Given the description of an element on the screen output the (x, y) to click on. 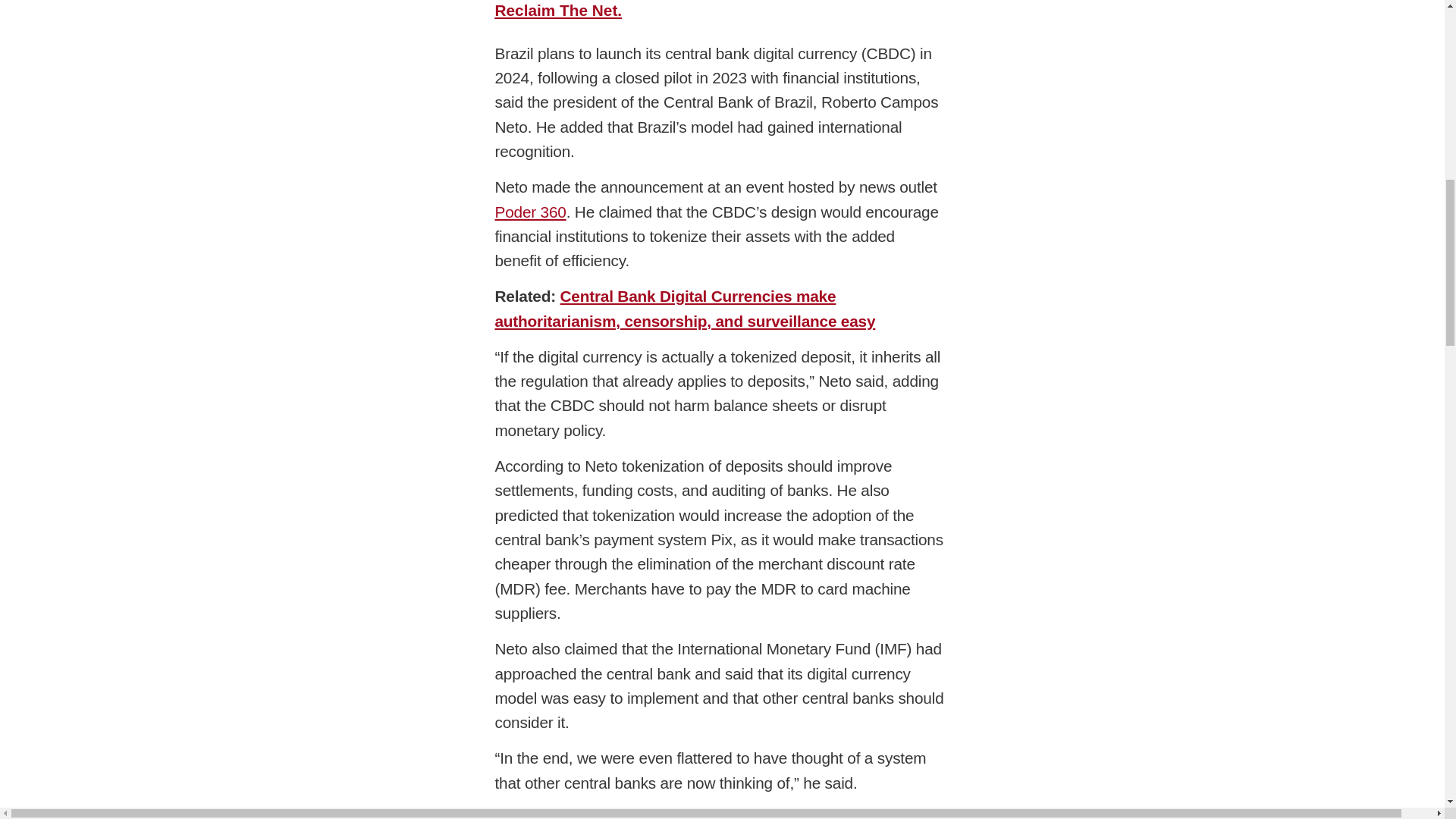
subscribe to Reclaim The Net. (714, 9)
Poder 360 (530, 211)
